Given the description of an element on the screen output the (x, y) to click on. 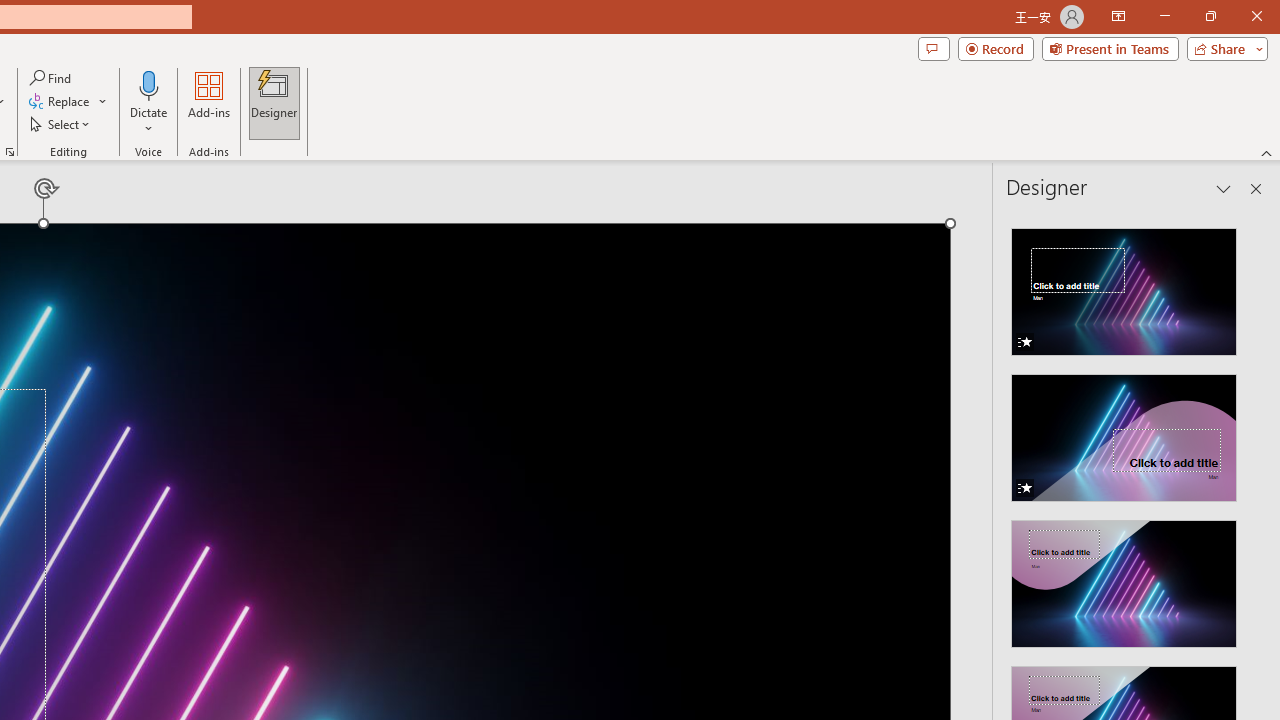
Recommended Design: Animation (1124, 286)
